Given the description of an element on the screen output the (x, y) to click on. 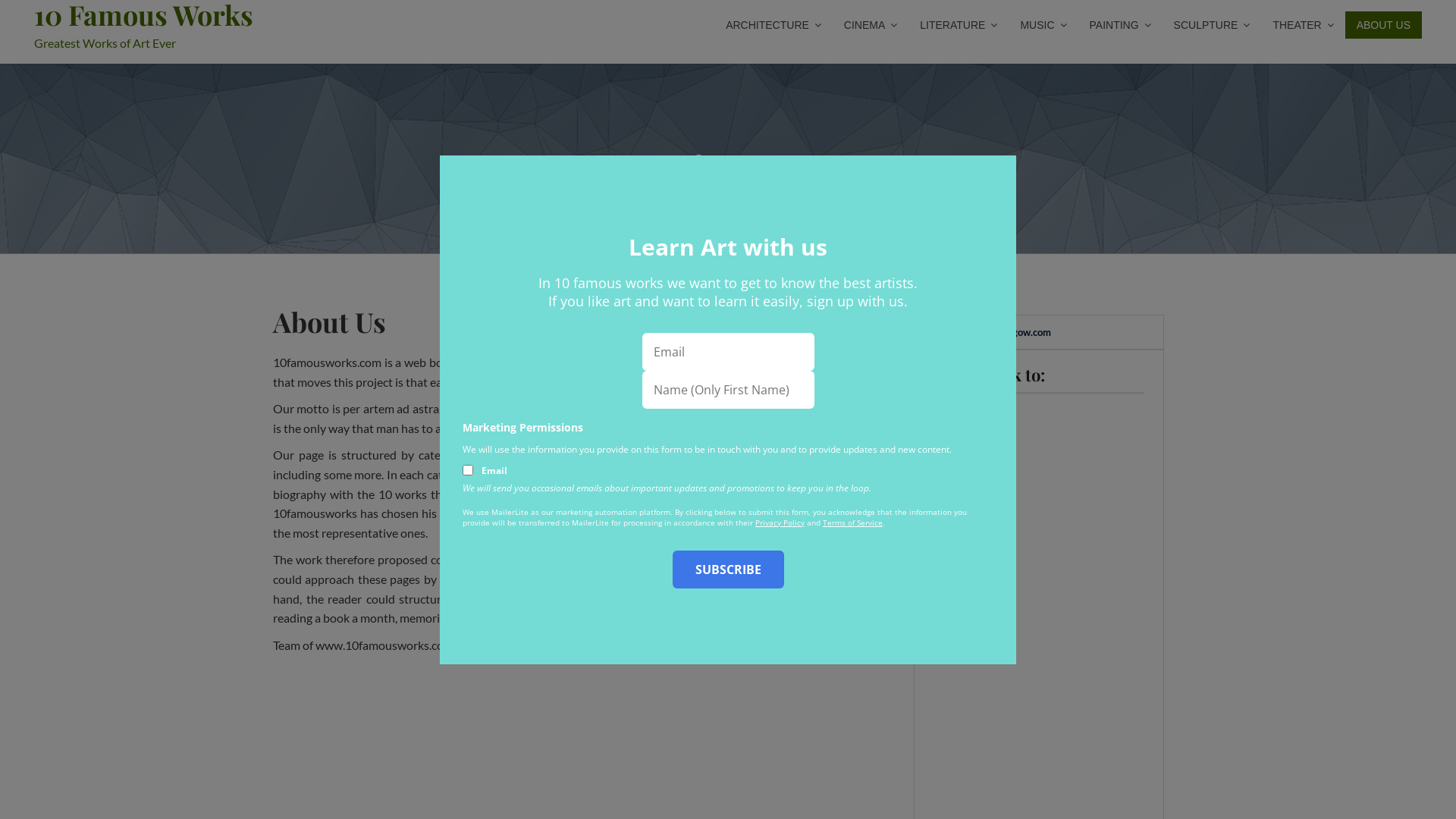
SCULPTURE Element type: text (1208, 24)
Greatest Works of Art Ever Element type: text (104, 42)
CINEMA Element type: text (866, 24)
LITERATURE Element type: text (954, 24)
ABOUT US Element type: text (1383, 24)
Web Design by zzgow.com Element type: text (992, 332)
THEATER Element type: text (1298, 24)
ARCHITECTURE Element type: text (769, 24)
Advertisement Element type: hover (572, 737)
PAINTING Element type: text (1116, 24)
MUSIC Element type: text (1039, 24)
